Given the description of an element on the screen output the (x, y) to click on. 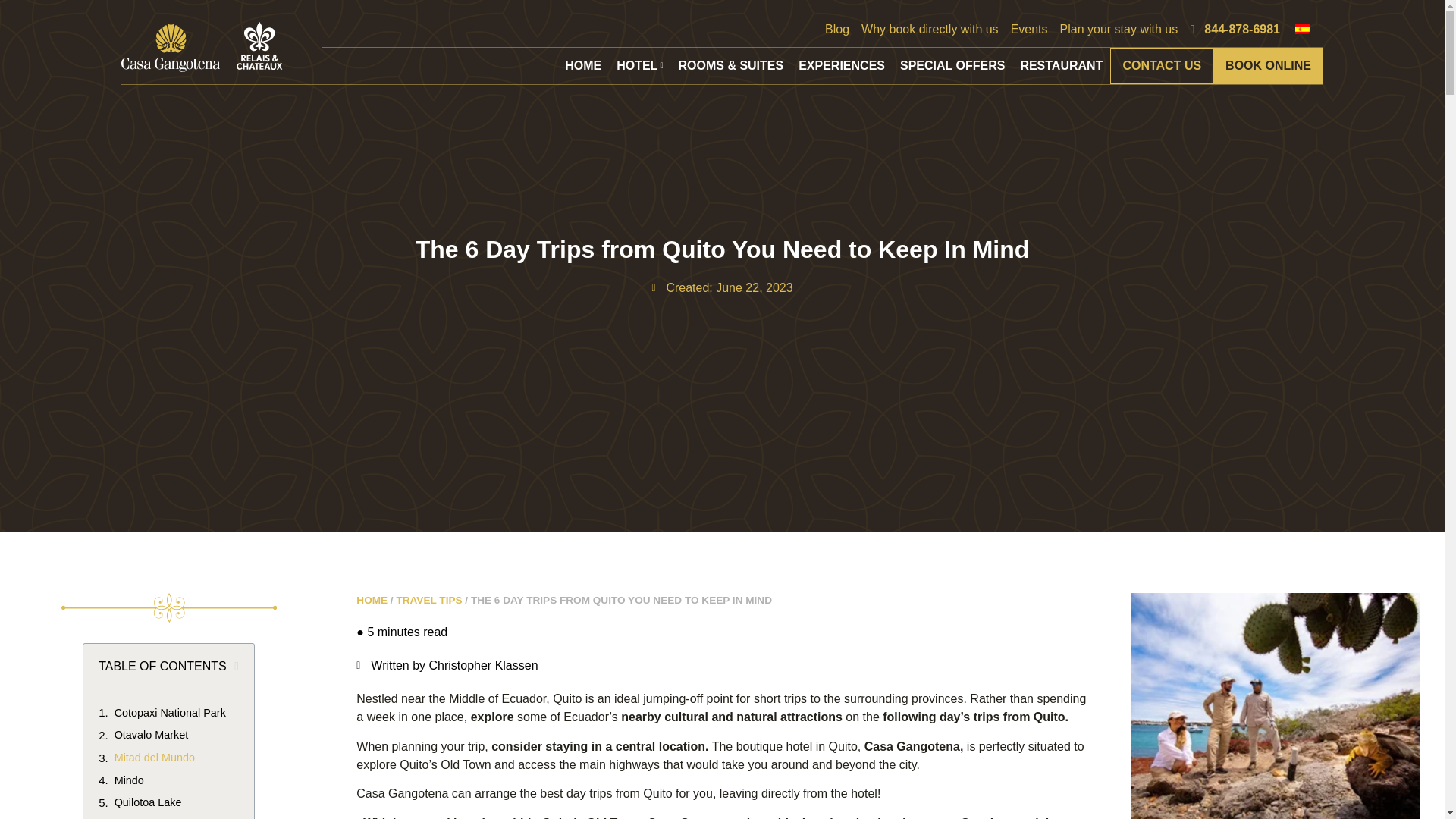
Events (1029, 29)
Spanish (1307, 29)
SPECIAL OFFERS (951, 65)
HOME (582, 65)
Why book directly with us (929, 29)
   844-878-6981 (1234, 29)
HOTEL (638, 65)
Plan your stay with us (1118, 29)
EXPERIENCES (841, 65)
RESTAURANT (1060, 65)
Blog (836, 29)
